Given the description of an element on the screen output the (x, y) to click on. 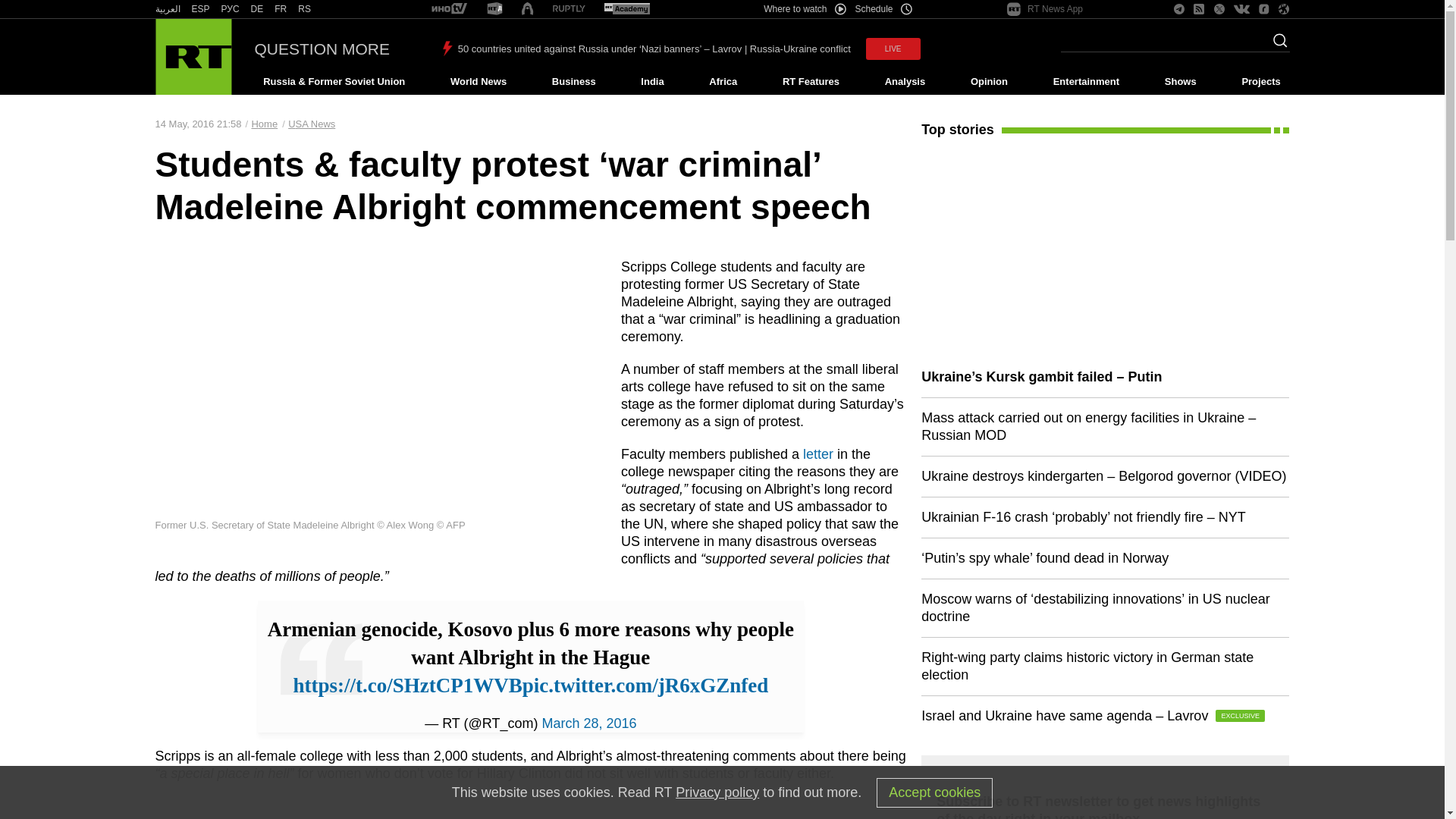
RT  (280, 9)
RT  (230, 9)
RT  (199, 9)
Projects (1261, 81)
RT  (626, 9)
LIVE (893, 48)
RT  (304, 9)
RT  (569, 8)
RT  (448, 9)
Search (1276, 44)
